Given the description of an element on the screen output the (x, y) to click on. 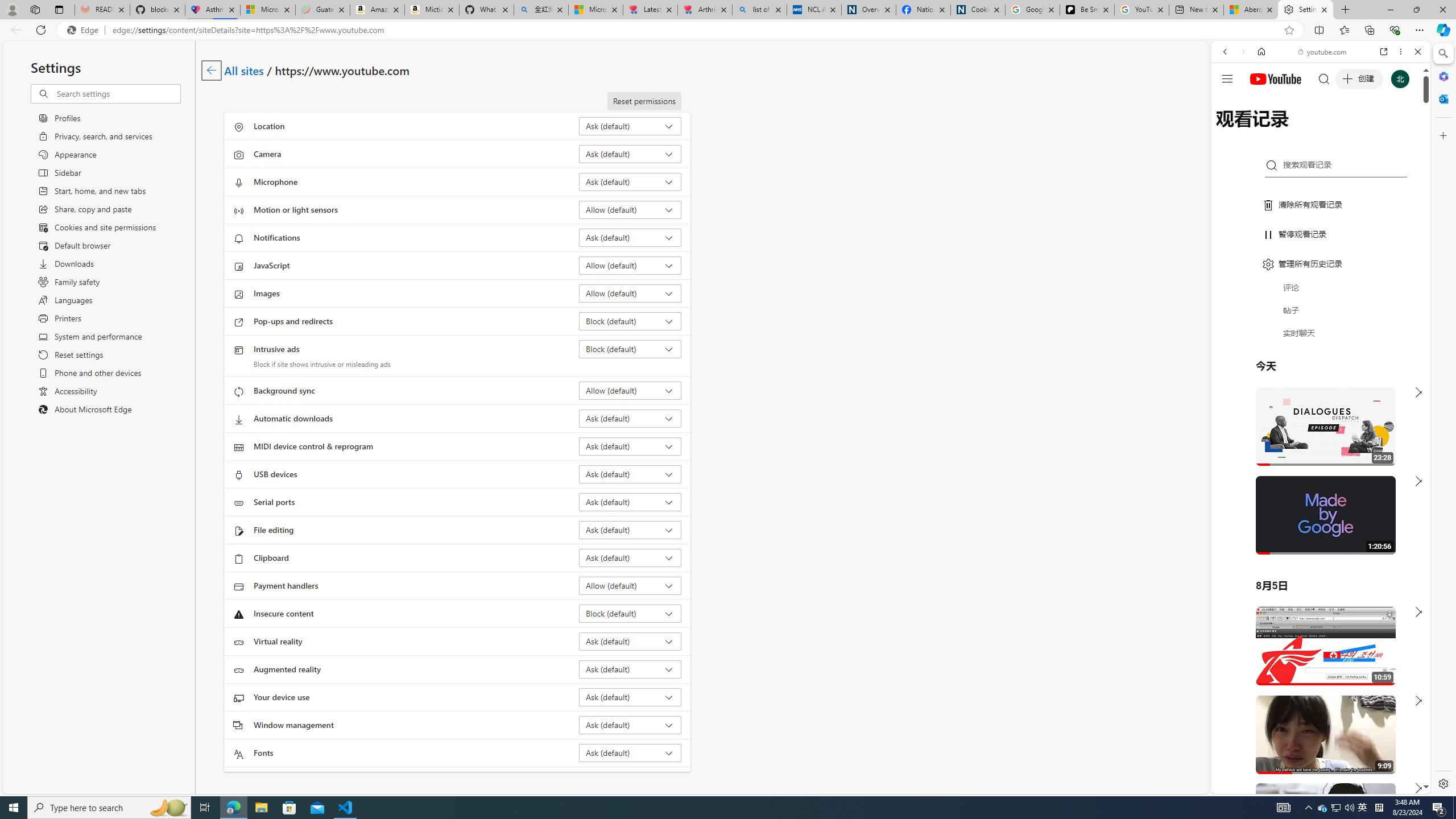
Clipboard Ask (default) (630, 557)
Go back to All sites page. (210, 70)
